Given the description of an element on the screen output the (x, y) to click on. 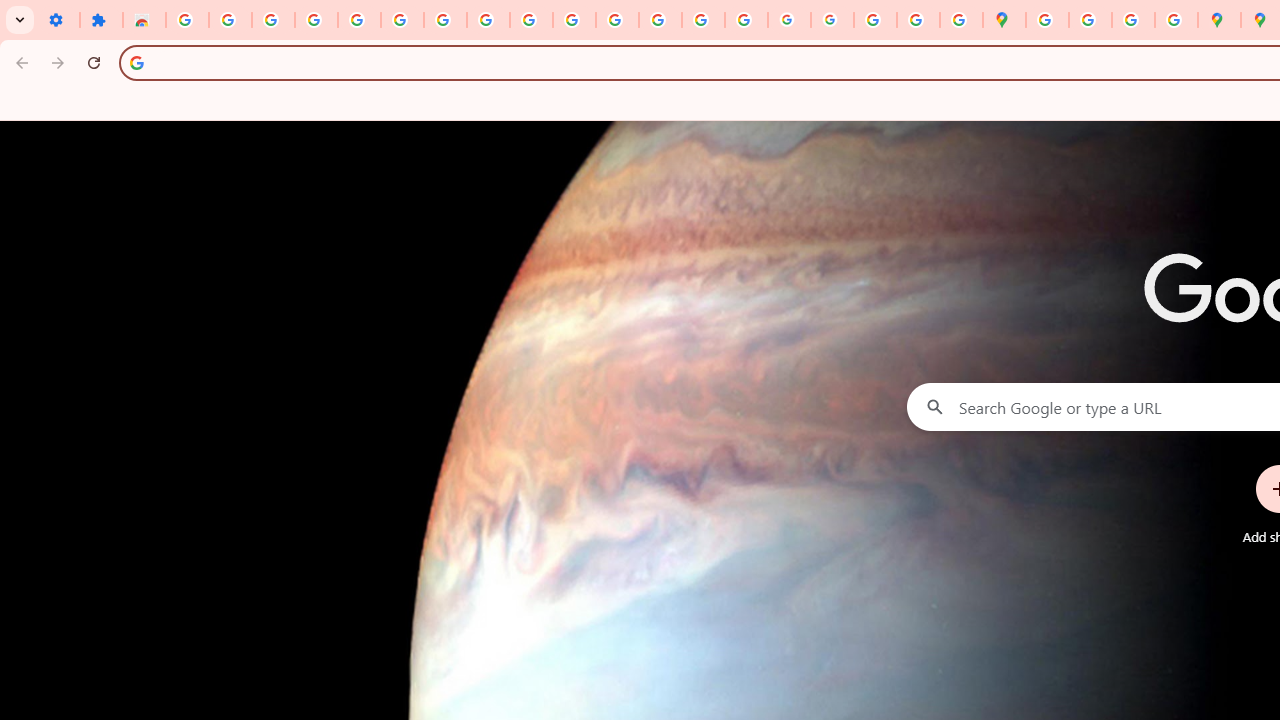
Sign in - Google Accounts (402, 20)
Reviews: Helix Fruit Jump Arcade Game (144, 20)
